Given the description of an element on the screen output the (x, y) to click on. 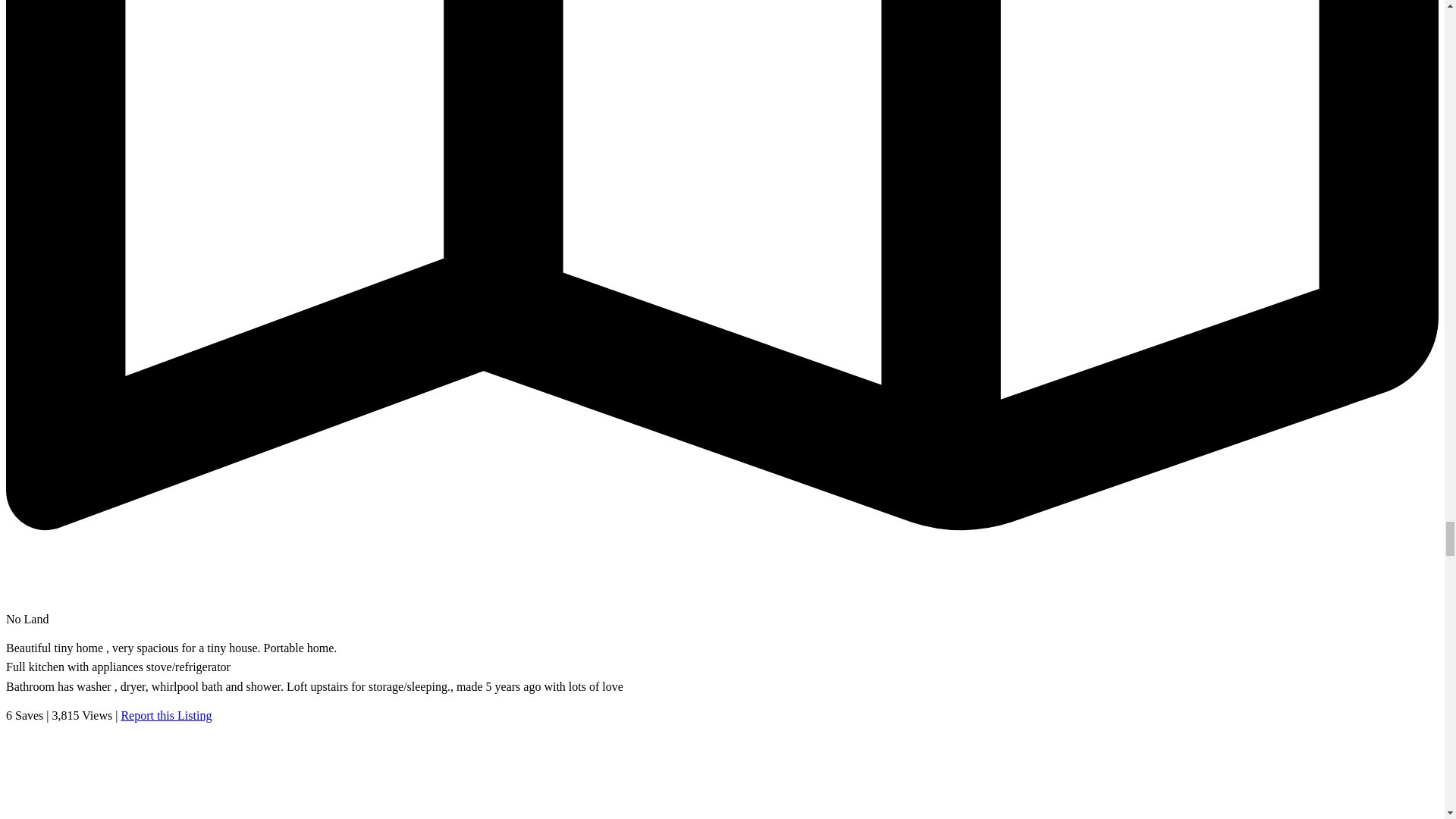
Report this Listing (165, 715)
